Given the description of an element on the screen output the (x, y) to click on. 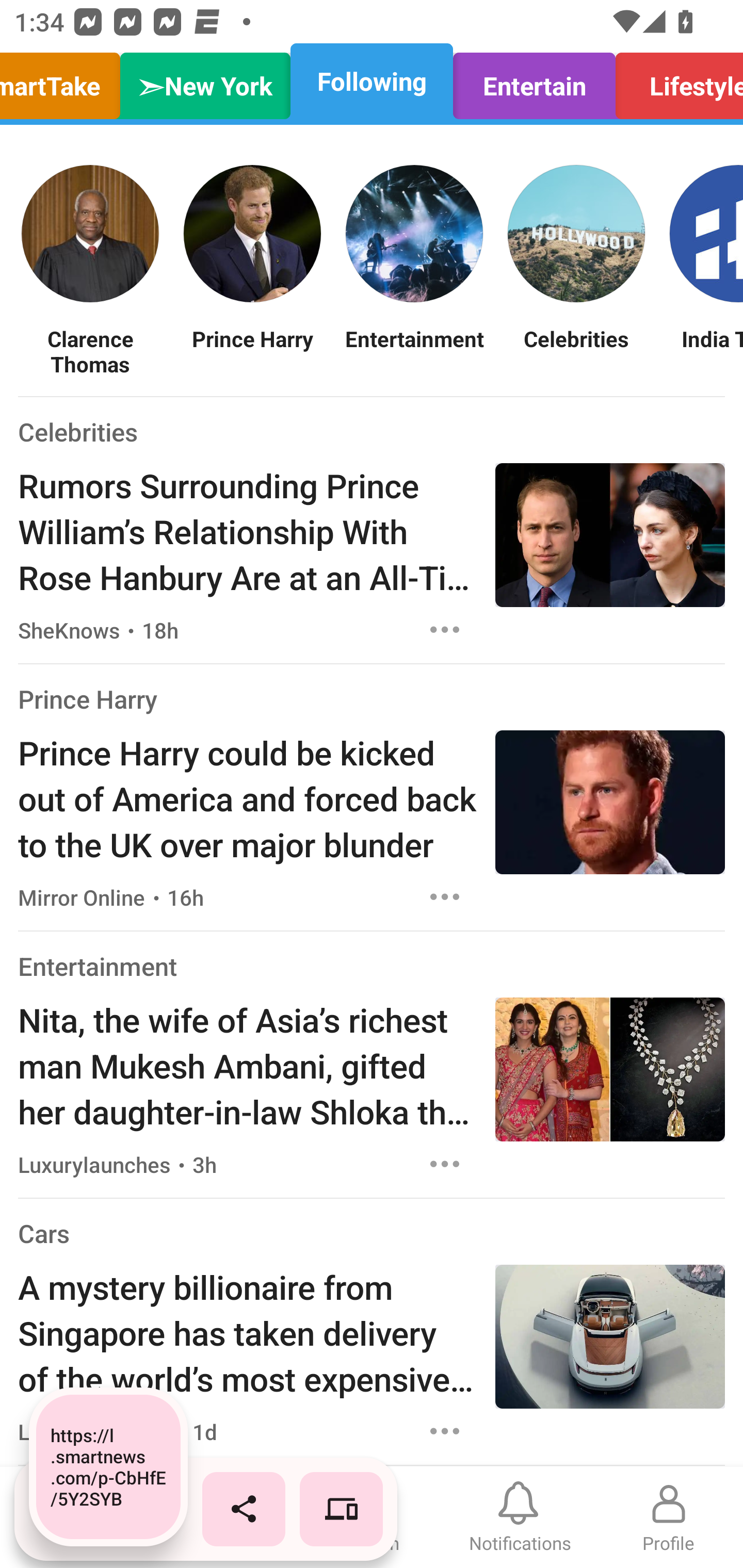
SmartTake (65, 81)
➣New York (205, 81)
Following (371, 81)
Entertain (534, 81)
Clarence Thomas (89, 350)
Prince Harry (251, 350)
Entertainment (413, 350)
Celebrities (575, 350)
Celebrities (77, 430)
Options (444, 629)
Prince Harry (87, 699)
Options (444, 896)
Entertainment (97, 965)
Options (444, 1164)
Cars (43, 1232)
Options (444, 1431)
Notifications (519, 1517)
Profile (668, 1517)
